Given the description of an element on the screen output the (x, y) to click on. 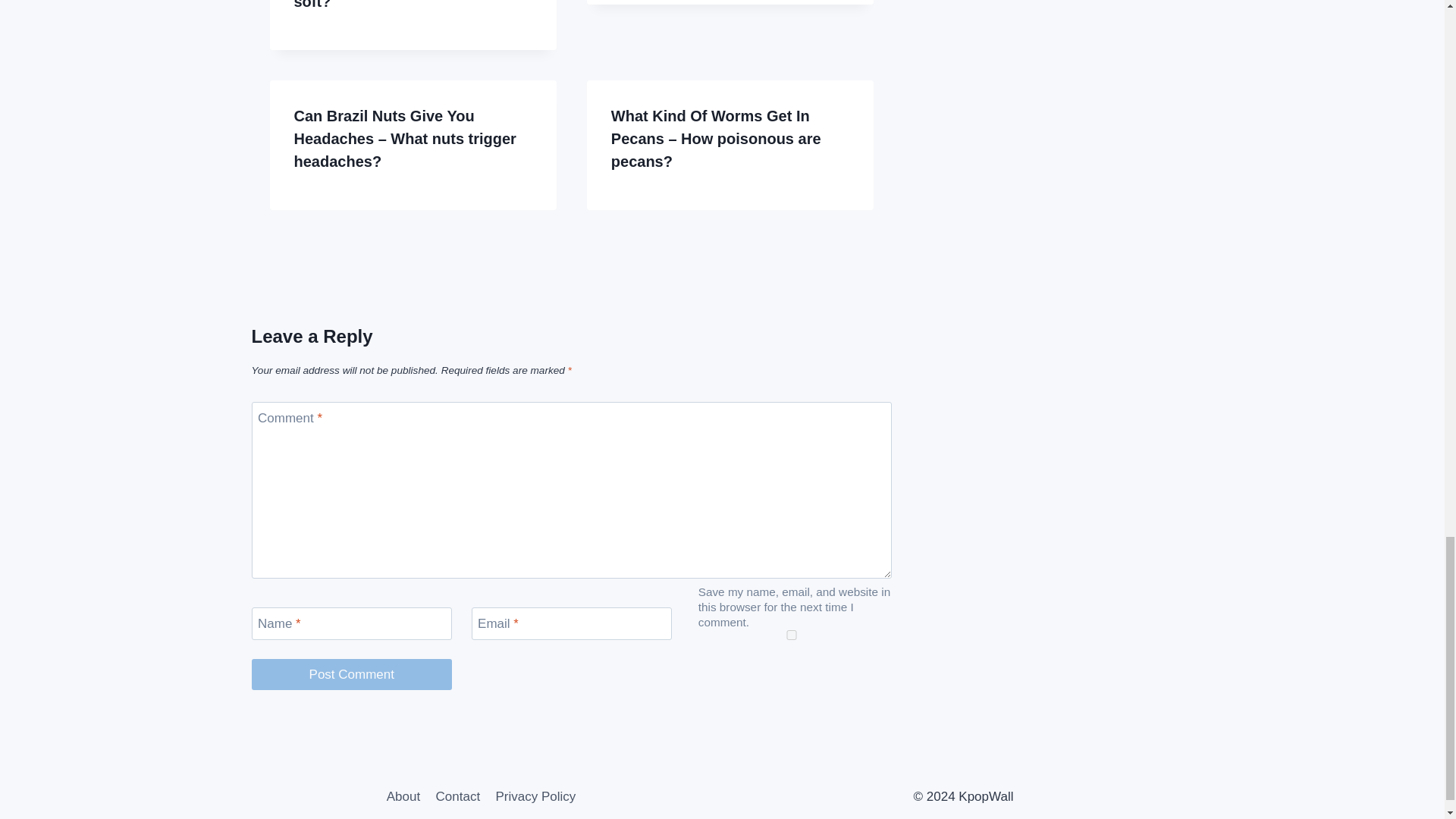
yes (791, 634)
Post Comment (351, 674)
